Given the description of an element on the screen output the (x, y) to click on. 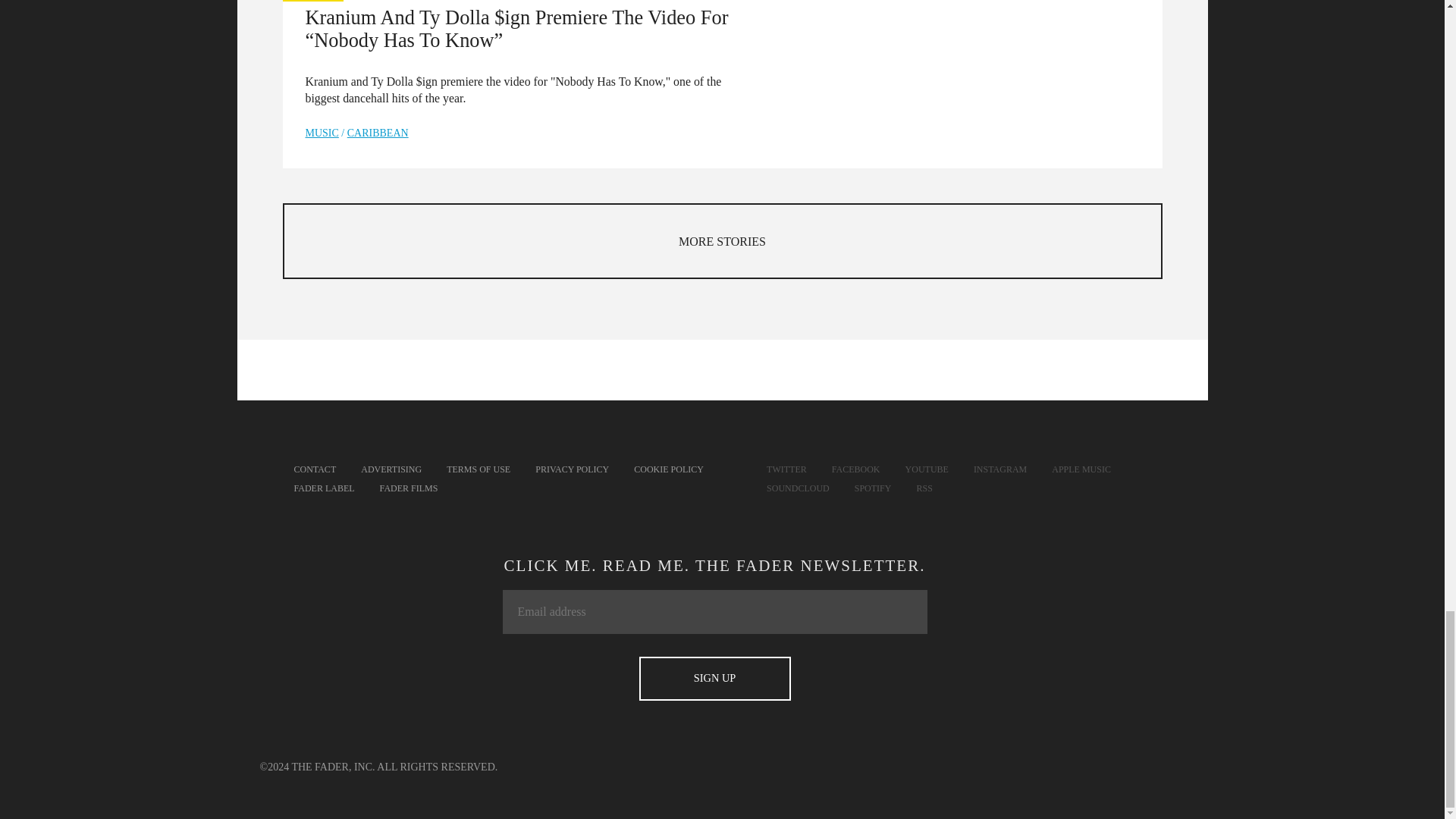
Sign Up (714, 678)
